Given the description of an element on the screen output the (x, y) to click on. 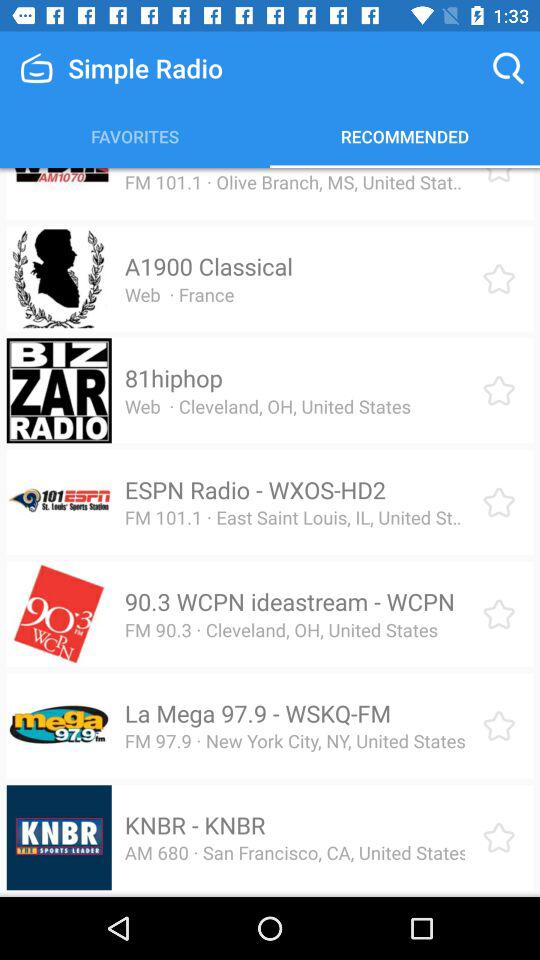
open icon to the right of the simple radio icon (508, 67)
